Given the description of an element on the screen output the (x, y) to click on. 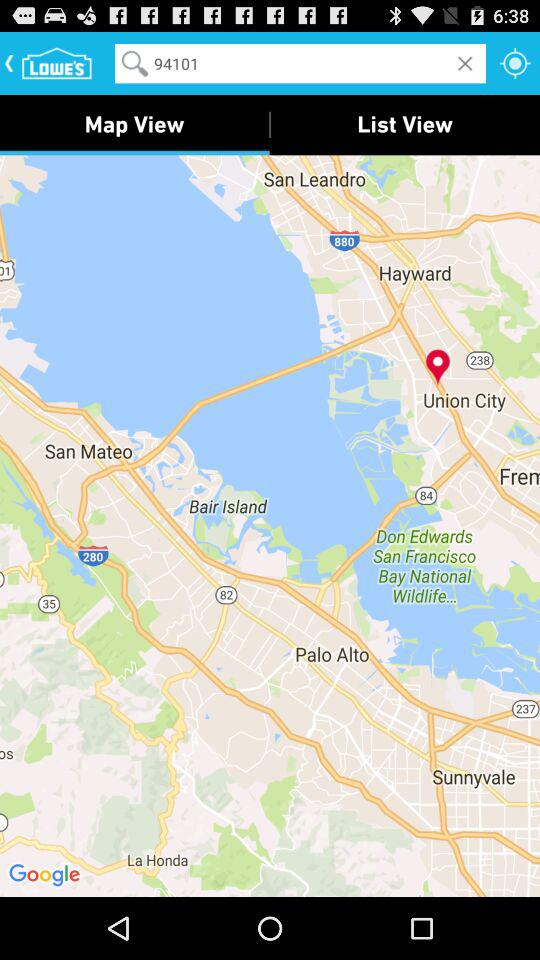
scroll until map view icon (134, 124)
